Given the description of an element on the screen output the (x, y) to click on. 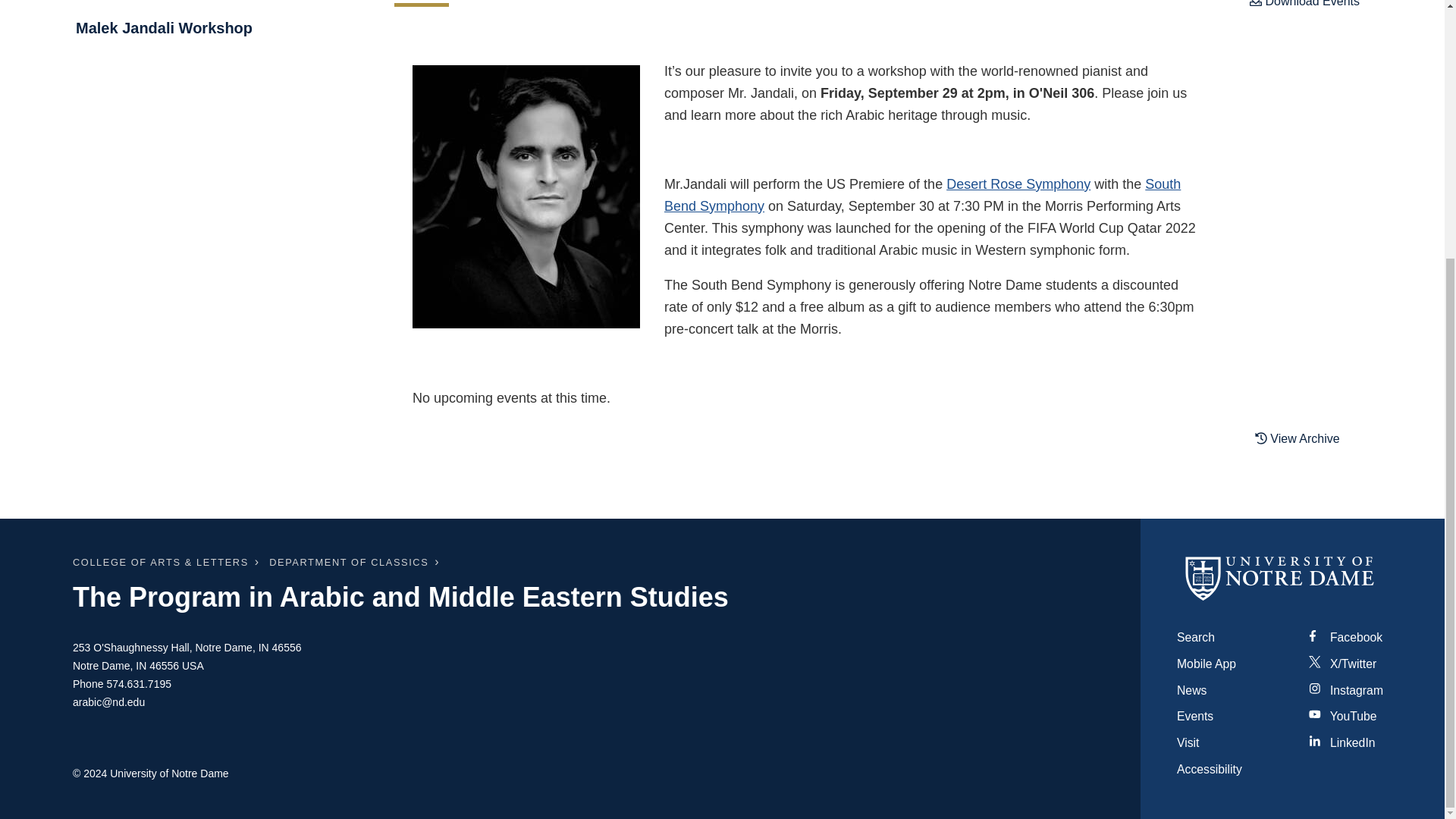
View Archive (1307, 437)
DEPARTMENT OF CLASSICS (348, 562)
Download Events (1304, 8)
Arabic Calligraphy Workshop a Success (218, 3)
The Program in Arabic and Middle Eastern Studies (400, 596)
South Bend Symphony (921, 194)
Malek Jandali Workshop (218, 26)
Desert Rose Symphony (1018, 183)
